Given the description of an element on the screen output the (x, y) to click on. 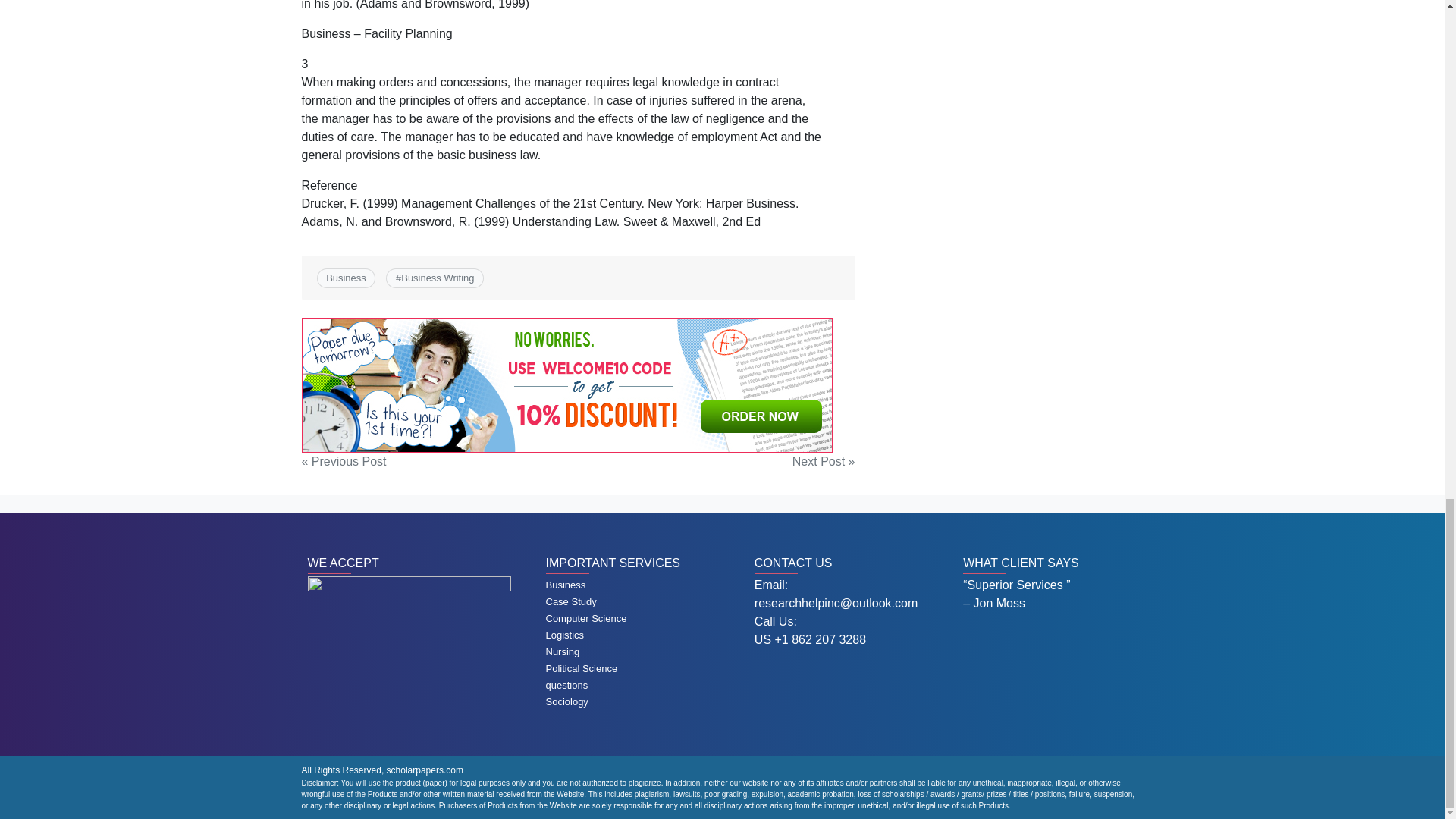
Sociology (567, 701)
Logistics (565, 634)
Computer Science (586, 618)
Nursing (562, 651)
Case Study (571, 601)
Business Writing (437, 277)
Political Science (581, 668)
questions (567, 685)
Business (566, 584)
Business (346, 277)
